Given the description of an element on the screen output the (x, y) to click on. 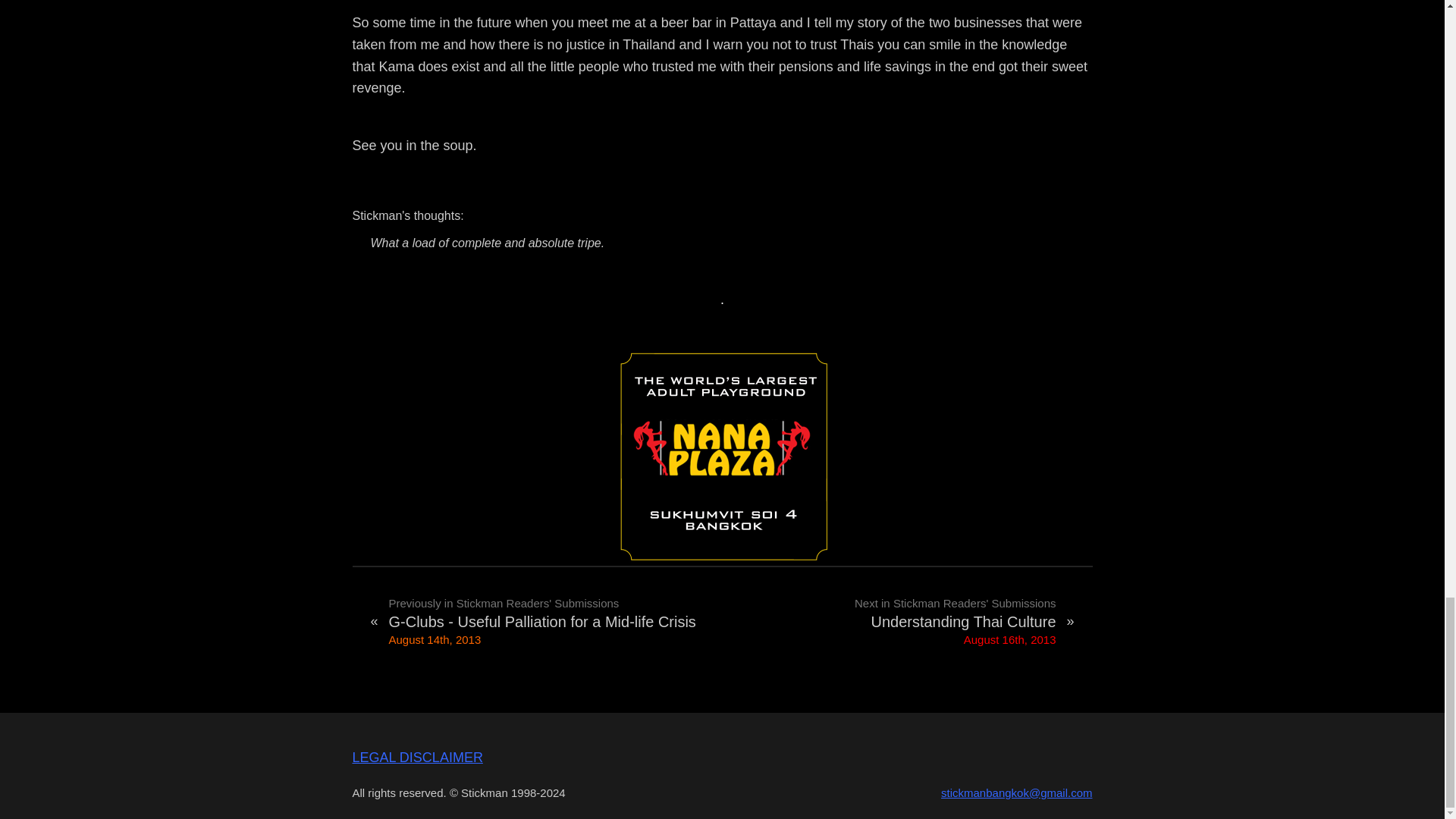
LEGAL DISCLAIMER (416, 757)
